Given the description of an element on the screen output the (x, y) to click on. 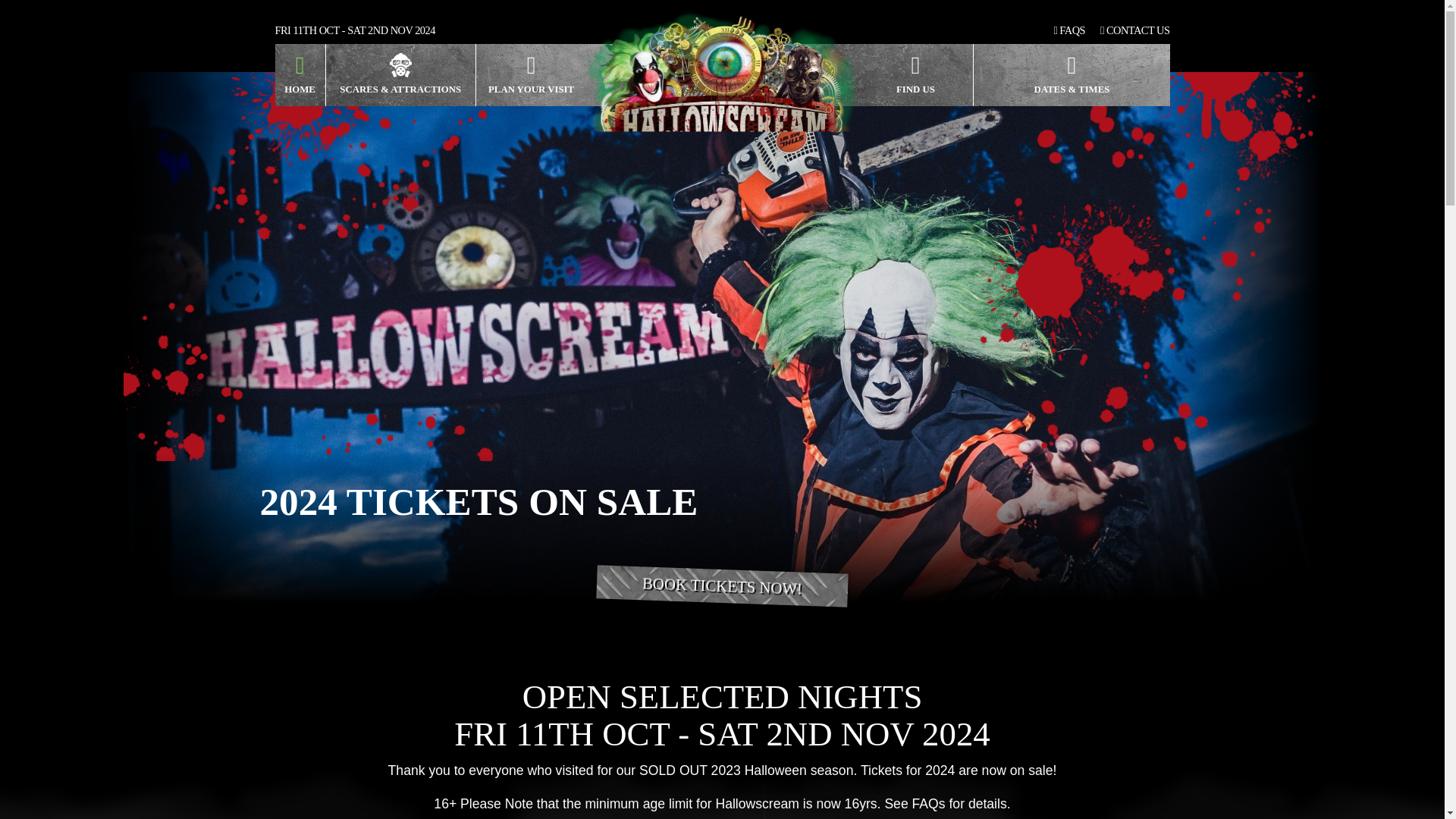
CONTACT US (1134, 30)
FIND US (916, 75)
BOOK TICKETS NOW! (721, 581)
FAQS (1070, 30)
PLAN YOUR VISIT (531, 75)
